Given the description of an element on the screen output the (x, y) to click on. 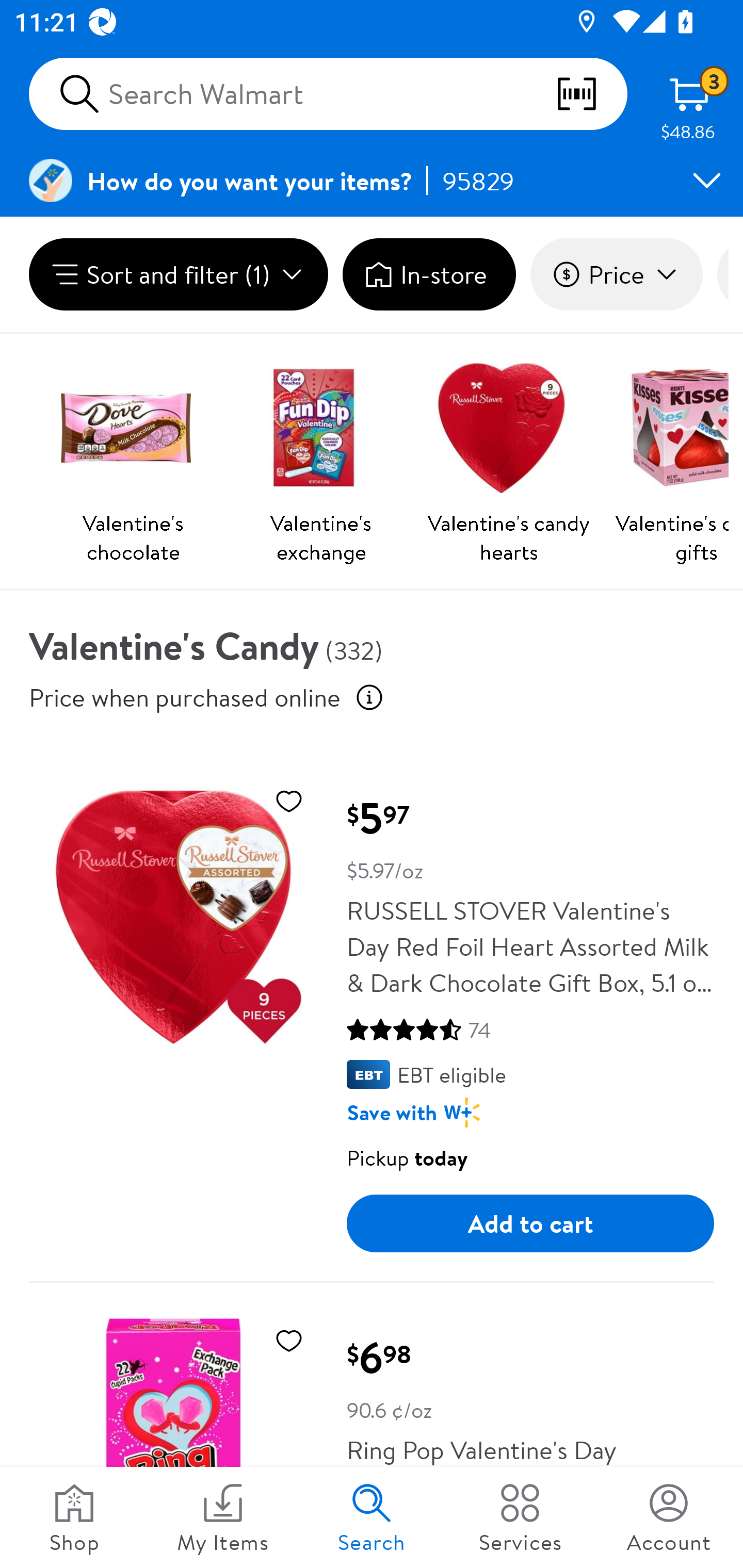
Search Walmart scan barcodes qr codes and more (327, 94)
scan barcodes qr codes and more (591, 94)
Filter by In-store, applied,  Filter icon In-store (428, 274)
Price when purchased online (184, 696)
Price when purchased online (369, 697)
Add to cart (530, 1223)
Shop (74, 1517)
My Items (222, 1517)
Services (519, 1517)
Account (668, 1517)
